Given the description of an element on the screen output the (x, y) to click on. 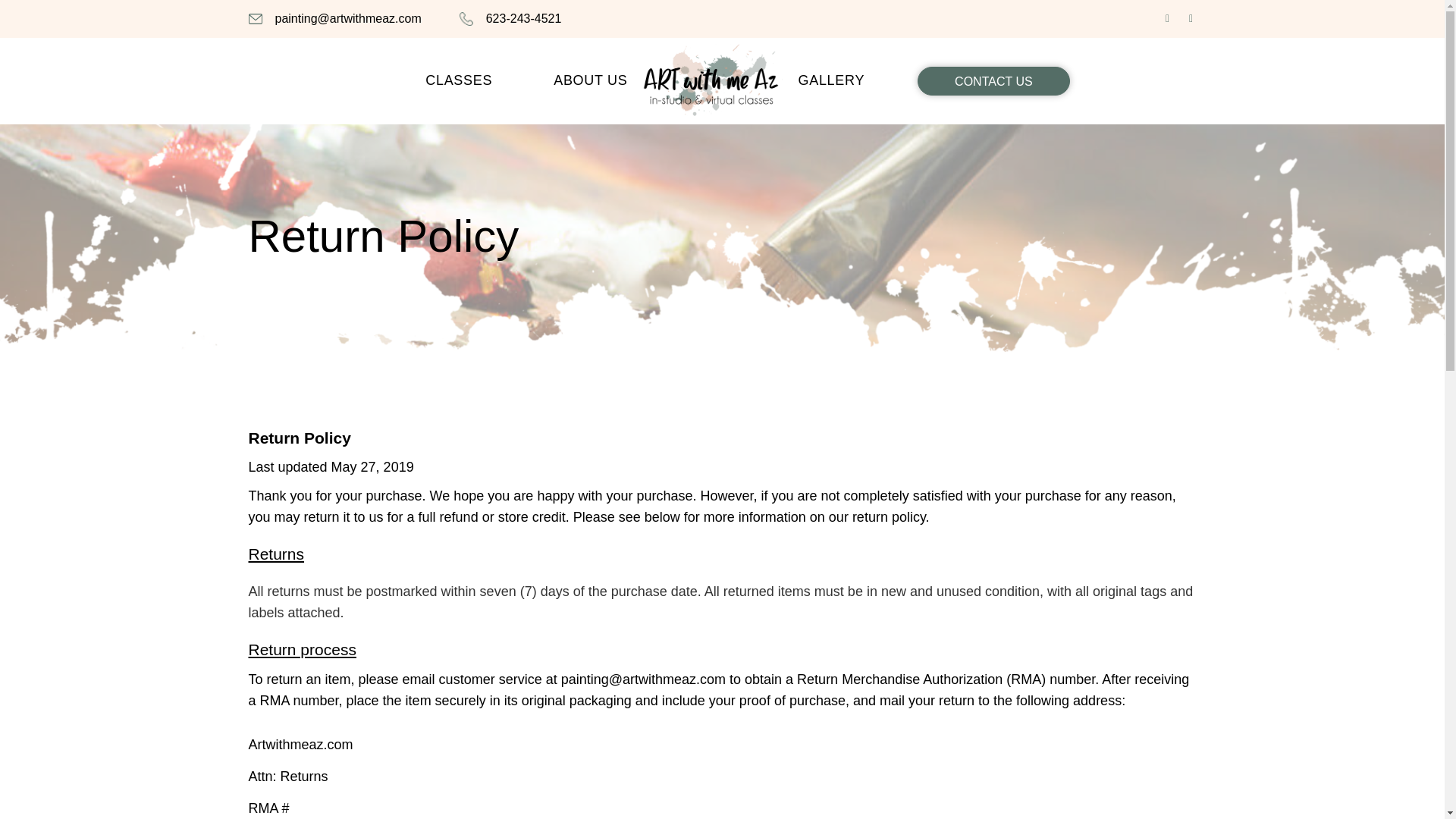
GALLERY (830, 80)
623-243-4521 (524, 18)
CLASSES (458, 80)
CONTACT US (993, 80)
ABOUT US (590, 80)
